Given the description of an element on the screen output the (x, y) to click on. 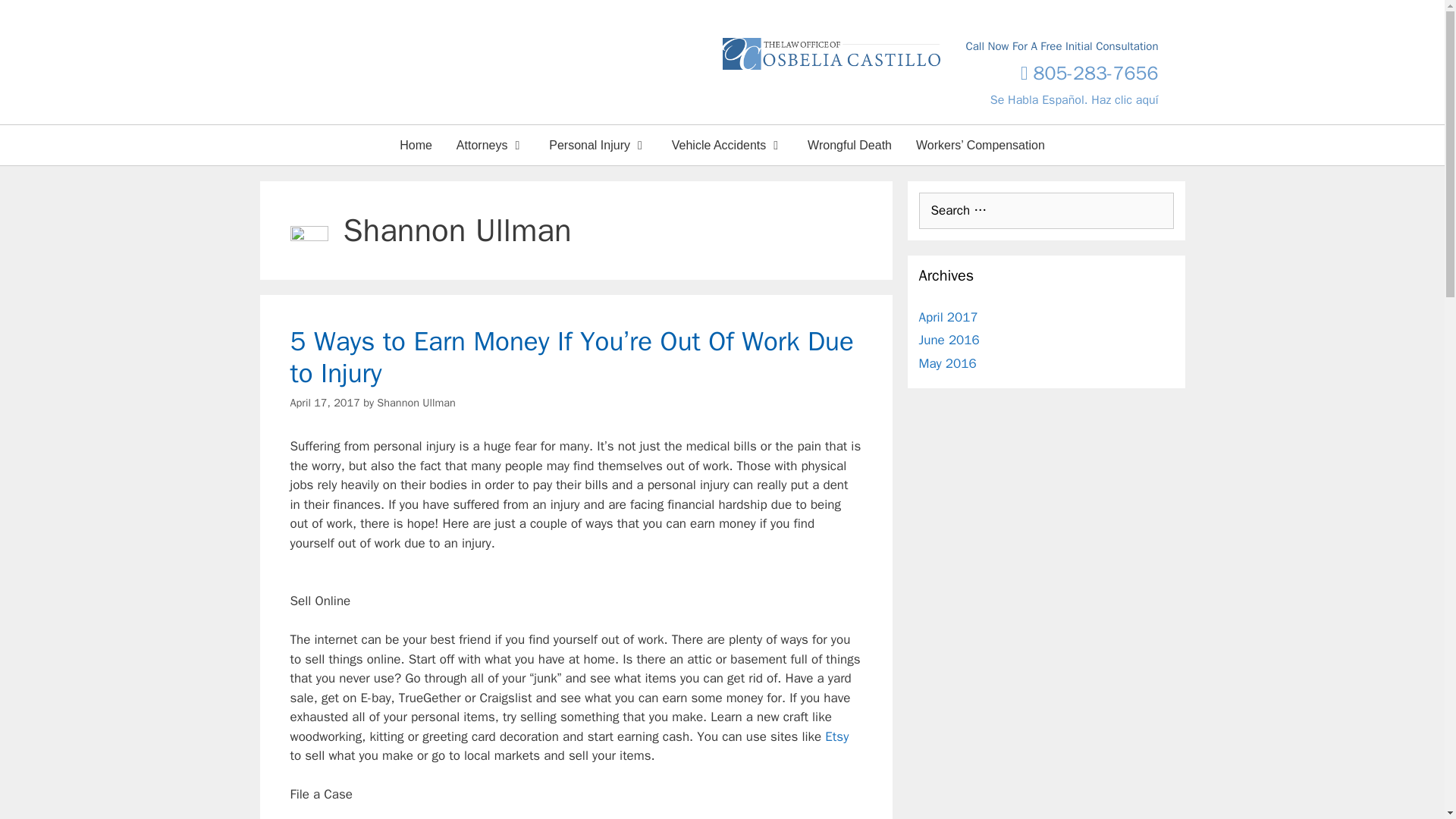
Vehicle Accidents (726, 145)
Personal Injury (598, 145)
805-283-7656 (1089, 72)
Attorneys (490, 145)
Search for: (1045, 210)
April 2017 (948, 317)
Etsy (836, 736)
Home (415, 145)
Shannon Ullman (416, 402)
Search (35, 18)
